Given the description of an element on the screen output the (x, y) to click on. 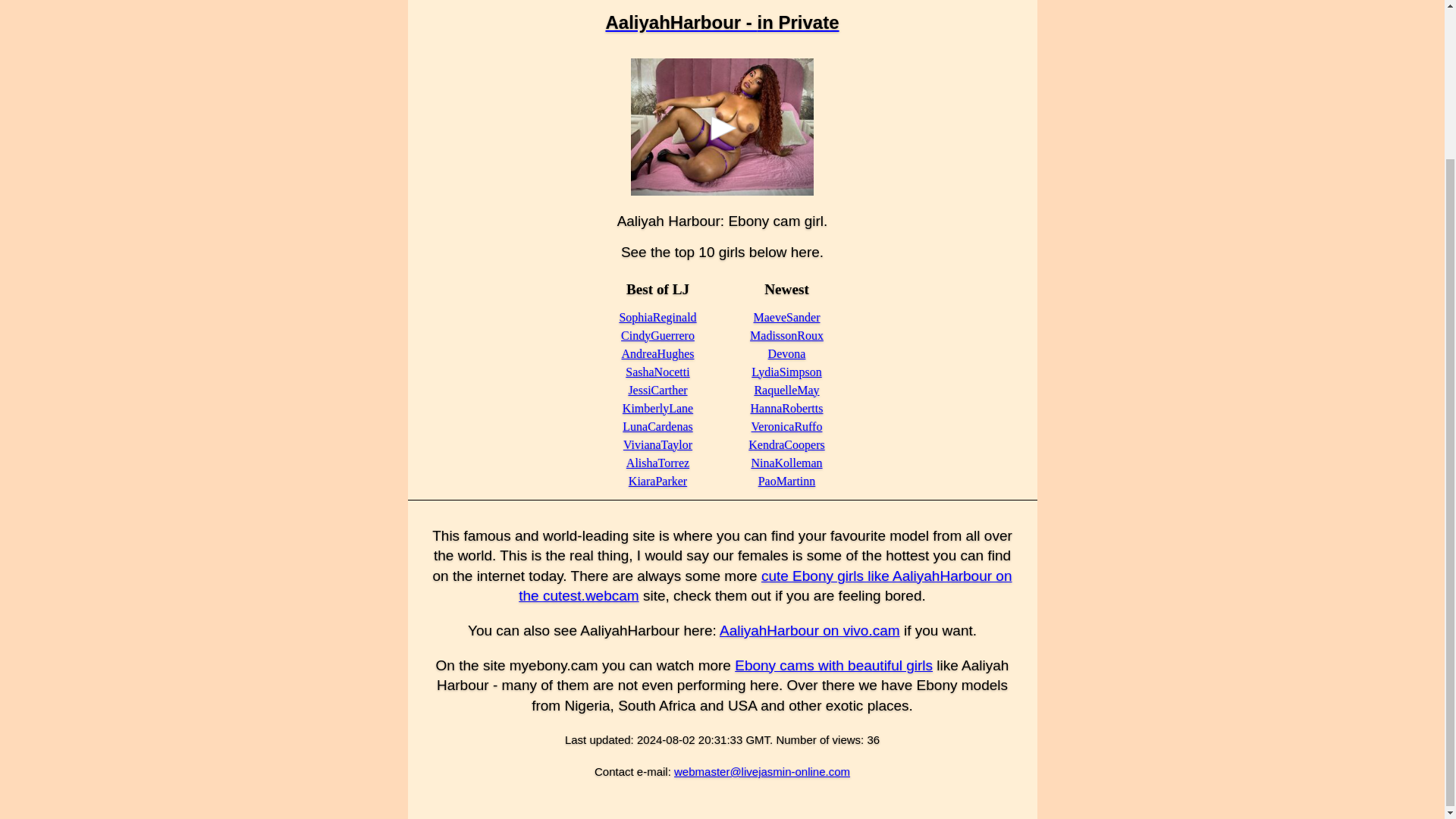
CindyGuerrero (657, 335)
AaliyahHarbour - in Private (721, 22)
VivianaTaylor (658, 444)
NinaKolleman (786, 462)
KendraCoopers (786, 444)
KiaraParker (657, 481)
AlishaTorrez (657, 462)
SashaNocetti (657, 371)
VeronicaRuffo (786, 426)
AaliyahHarbour on vivo.cam (809, 630)
